Given the description of an element on the screen output the (x, y) to click on. 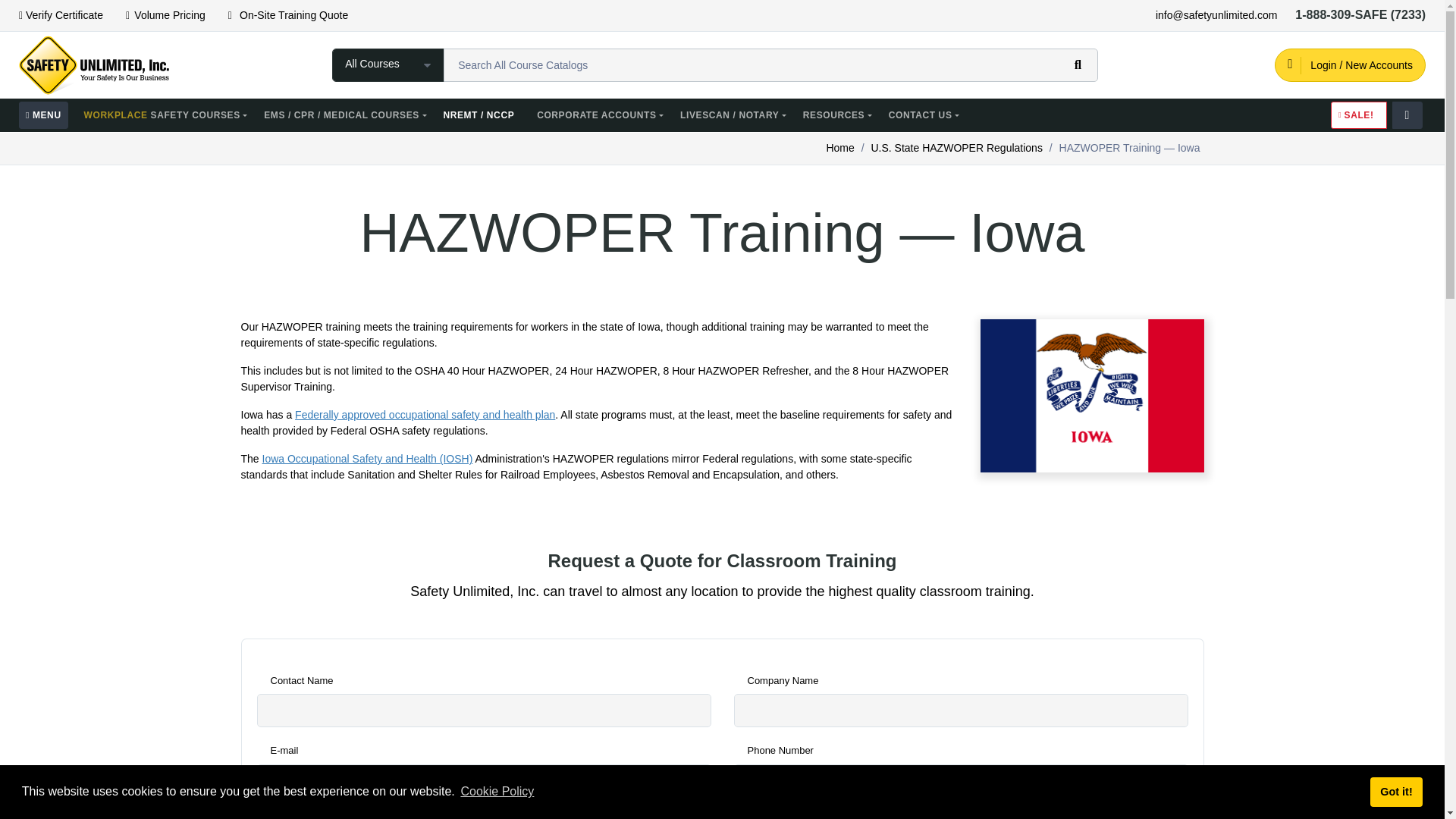
Home (839, 147)
CORPORATE ACCOUNTS (599, 114)
Federally approved occupational safety and health plan (424, 414)
Log In (1350, 65)
On-Site Training Quote (286, 15)
WORKPLACE SAFETY COURSES (165, 114)
On-Site Training Quote (286, 15)
U.S. State HAZWOPER Regulations (956, 147)
 MENU (43, 114)
 Verify Certificate (60, 15)
